Given the description of an element on the screen output the (x, y) to click on. 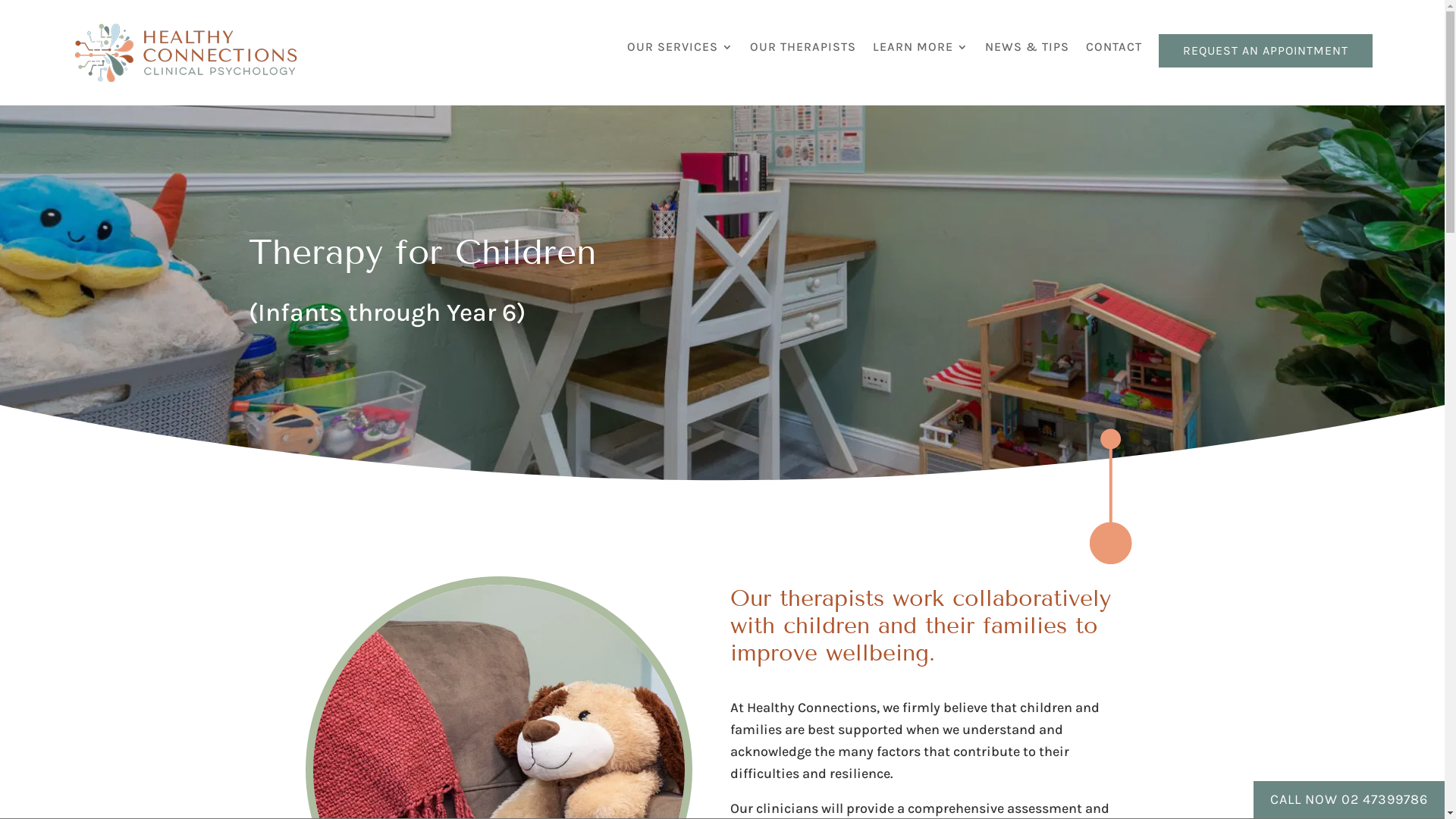
NEWS & TIPS Element type: text (1027, 54)
LEARN MORE Element type: text (920, 54)
CONTACT Element type: text (1113, 54)
health-connection-clinical-psychology-blaxland Element type: hover (185, 52)
OUR THERAPISTS Element type: text (802, 54)
REQUEST AN APPOINTMENT Element type: text (1265, 50)
OUR SERVICES Element type: text (680, 54)
CALL NOW 02 47399786 Element type: text (1348, 799)
HCCP-asset-01 Element type: hover (1109, 496)
